Given the description of an element on the screen output the (x, y) to click on. 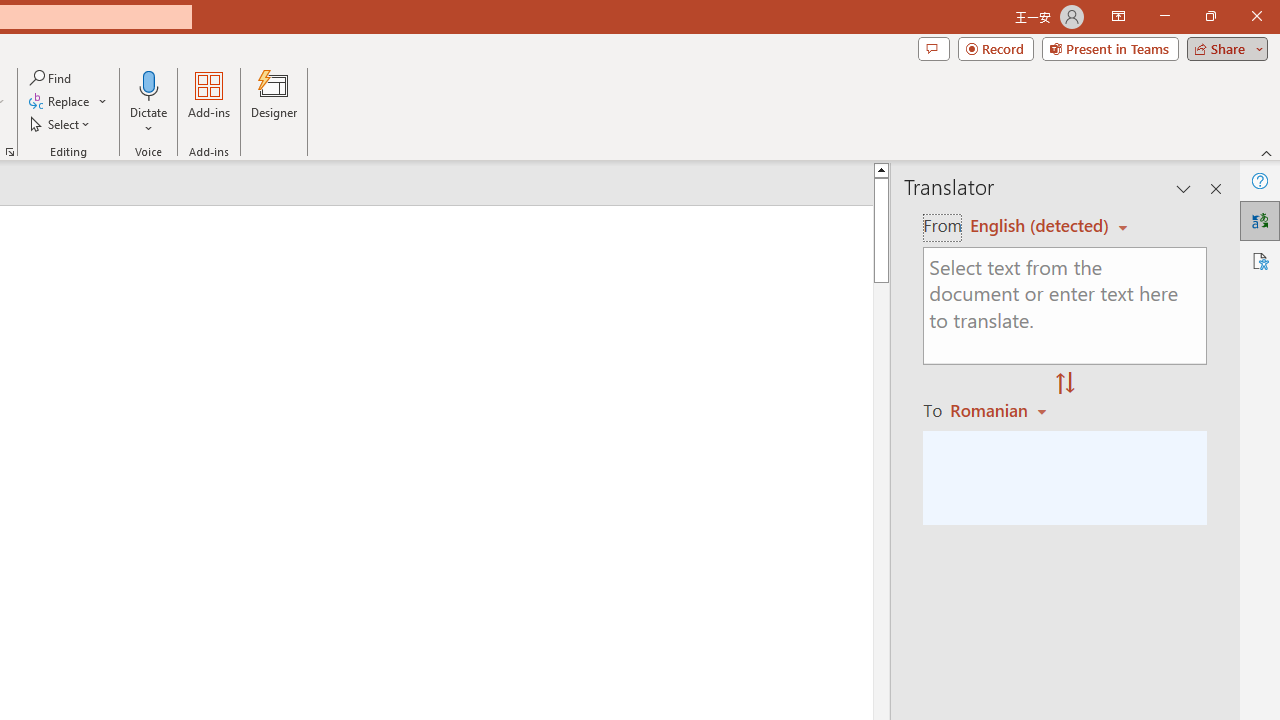
Romanian (1001, 409)
